Given the description of an element on the screen output the (x, y) to click on. 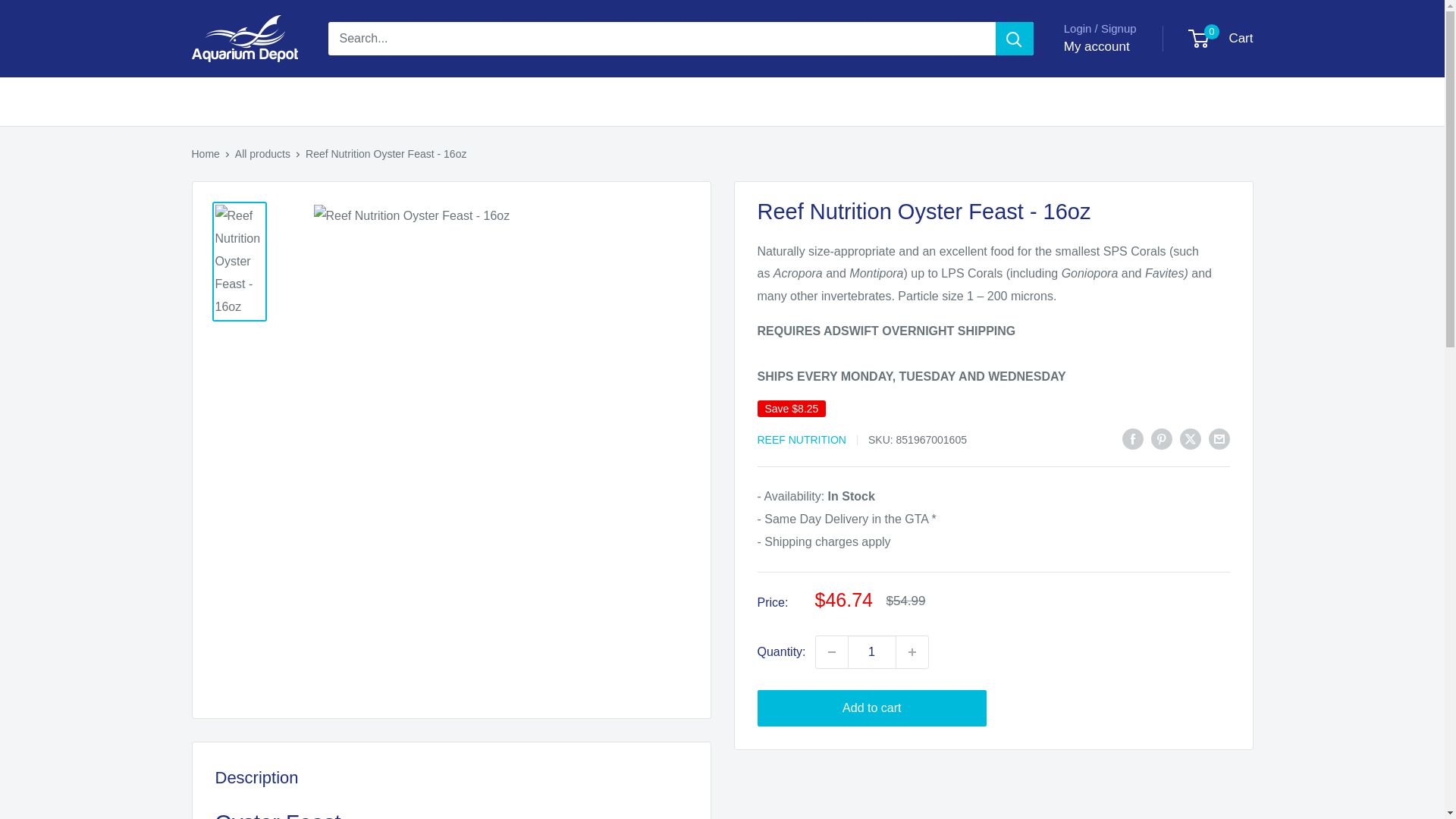
Increase quantity by 1 (912, 652)
Decrease quantity by 1 (831, 652)
1 (871, 652)
